Given the description of an element on the screen output the (x, y) to click on. 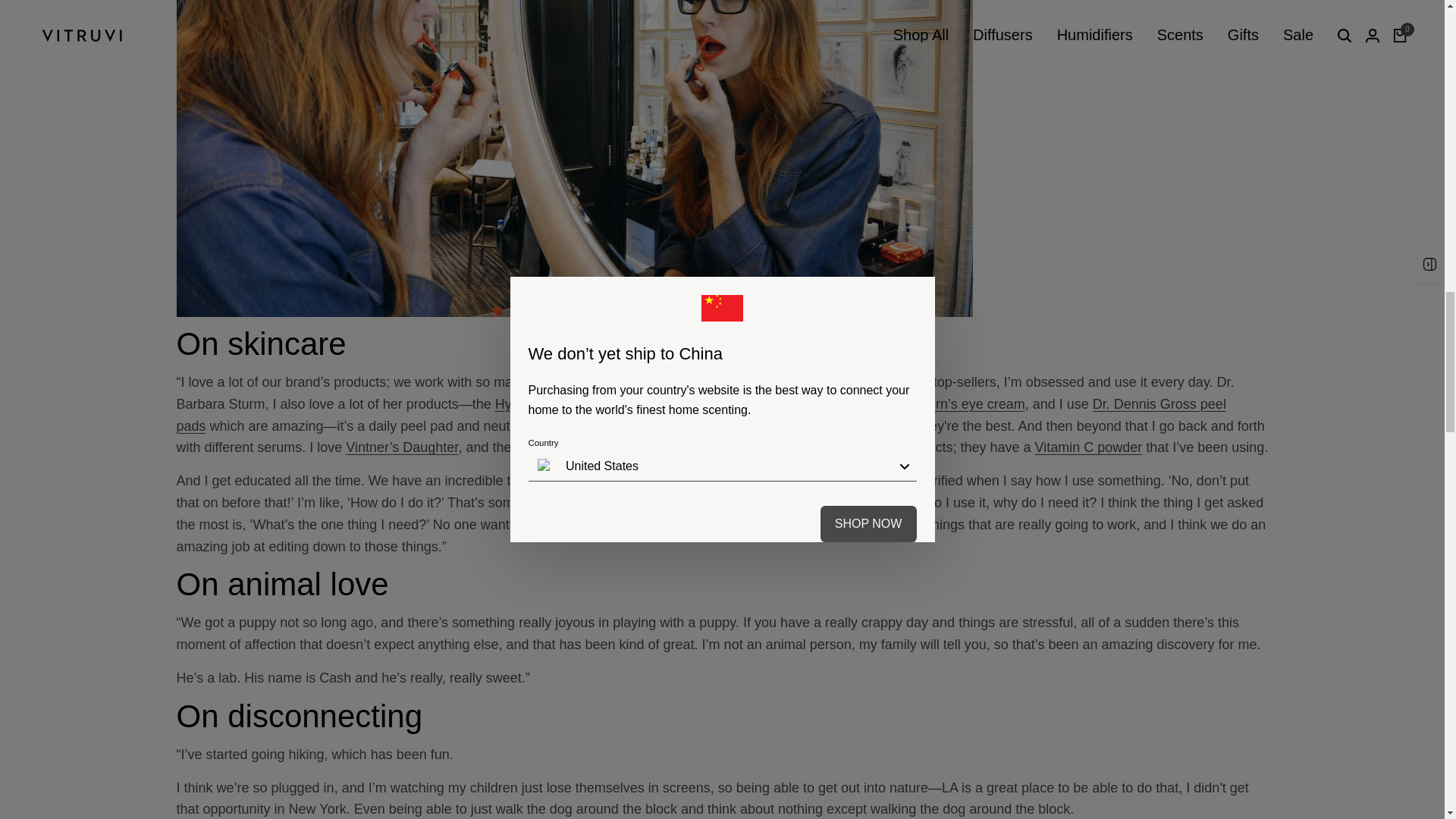
Dr. Barbara Sturm Hyaluronic Serum Violet Grey (549, 403)
Dr. Dennis Gross peel pads (700, 415)
Augustinus Bader The Cream Violet Grey (753, 381)
The Nue Co Topical-C Violet Grey (1088, 447)
Royal Fern eye cream Violet Grey (952, 403)
Vintner's Daugther serum Violet Grey (402, 447)
